Given the description of an element on the screen output the (x, y) to click on. 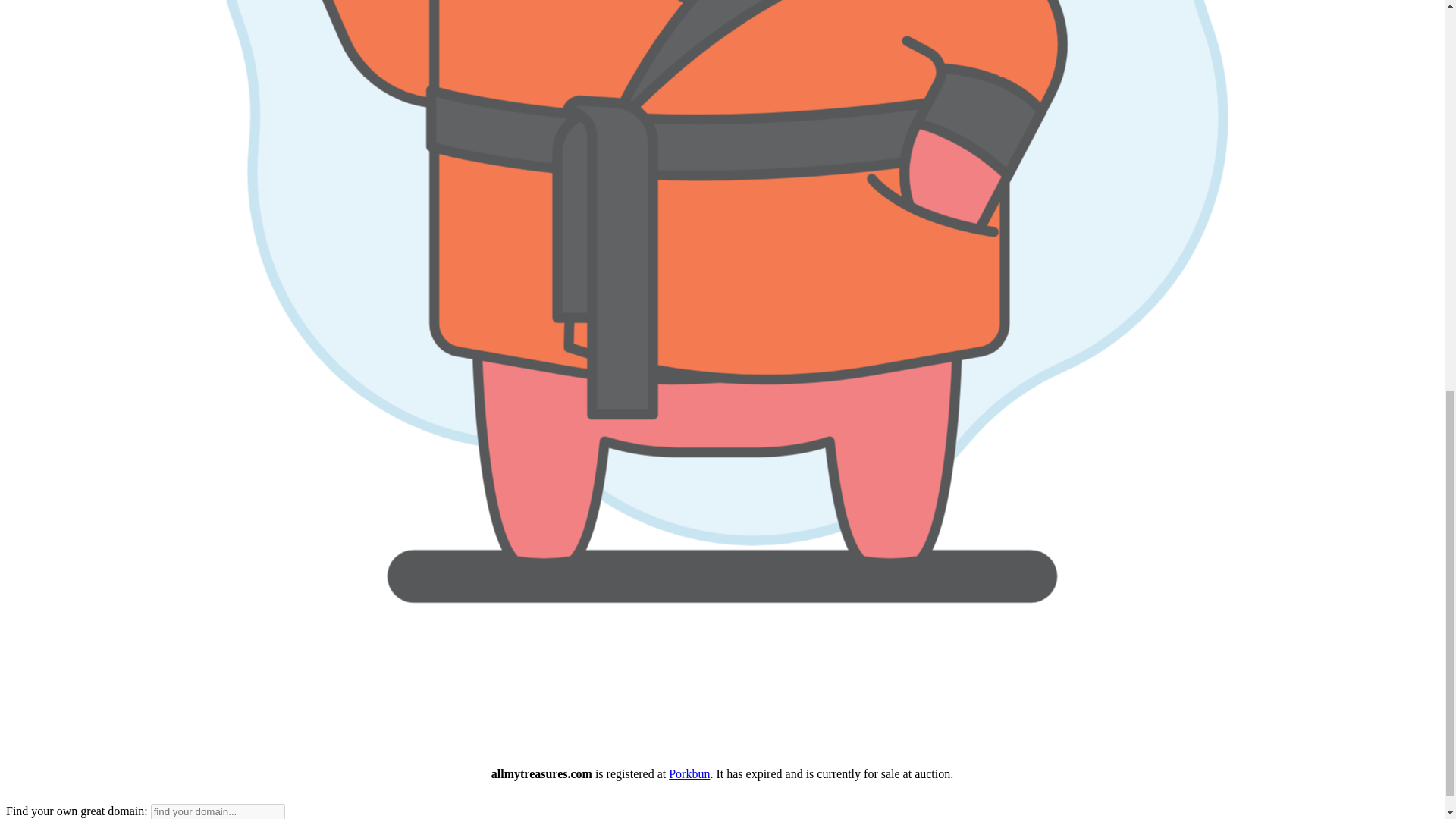
Porkbun (689, 773)
